Given the description of an element on the screen output the (x, y) to click on. 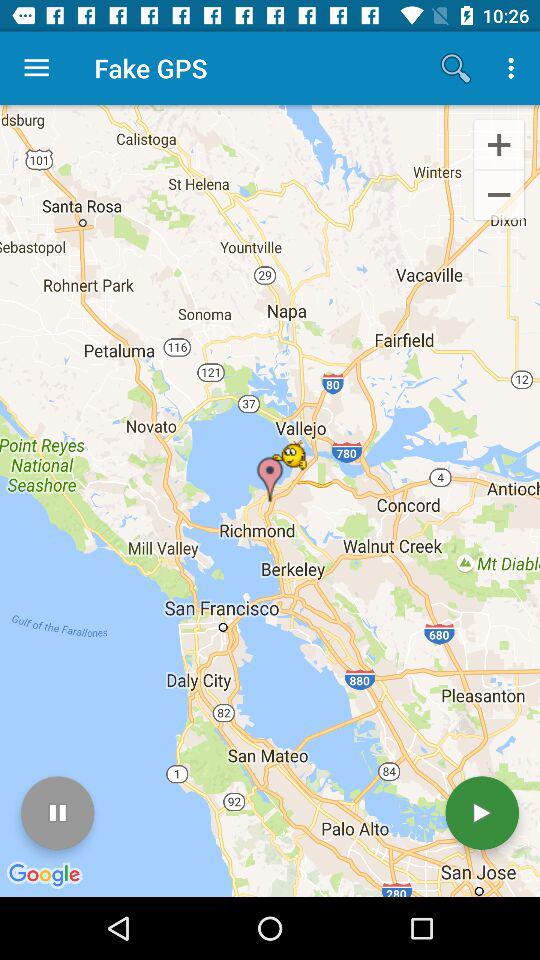
click the icon at the bottom right corner (482, 812)
